Given the description of an element on the screen output the (x, y) to click on. 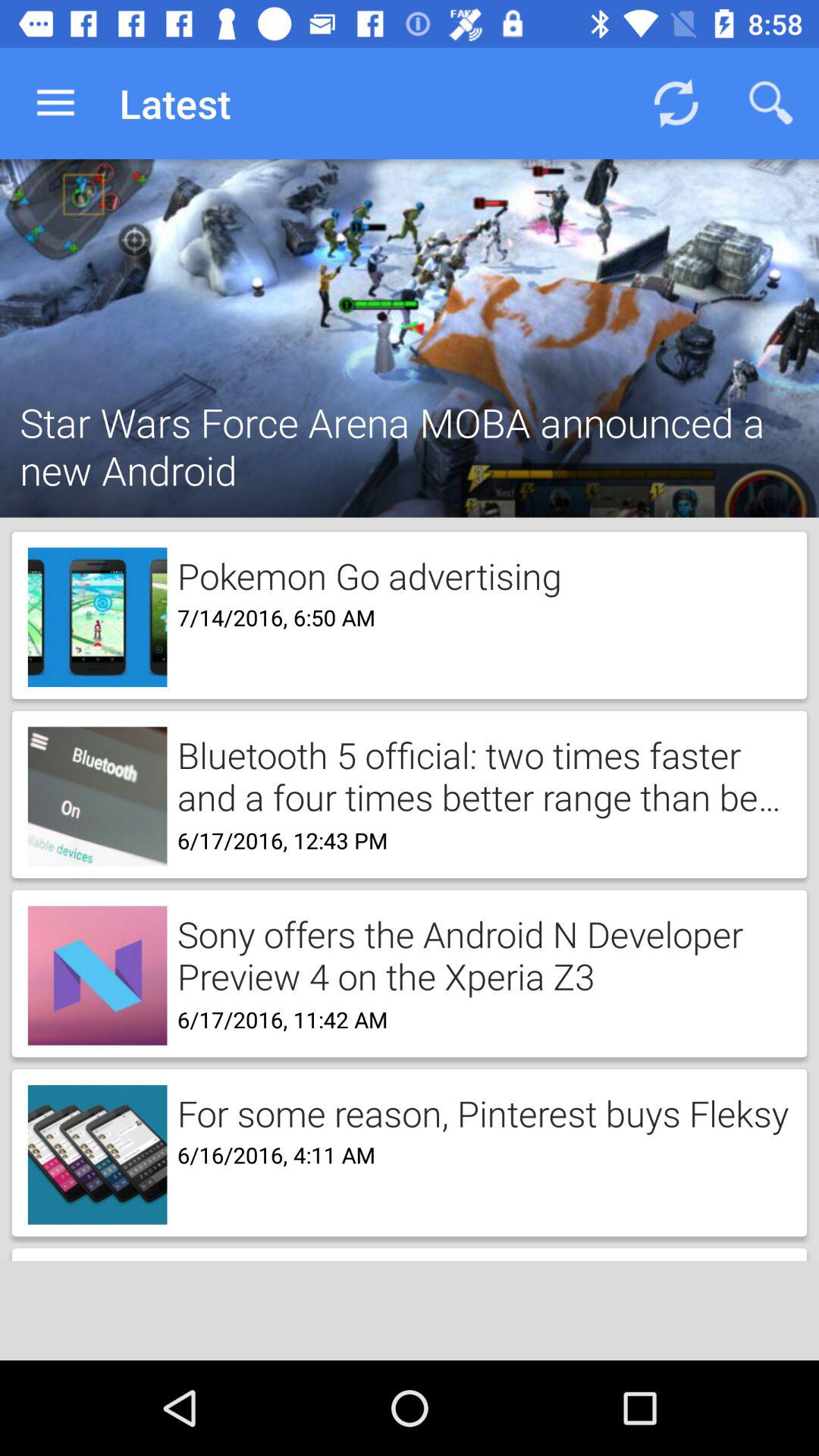
press the icon to the right of the latest app (675, 103)
